Given the description of an element on the screen output the (x, y) to click on. 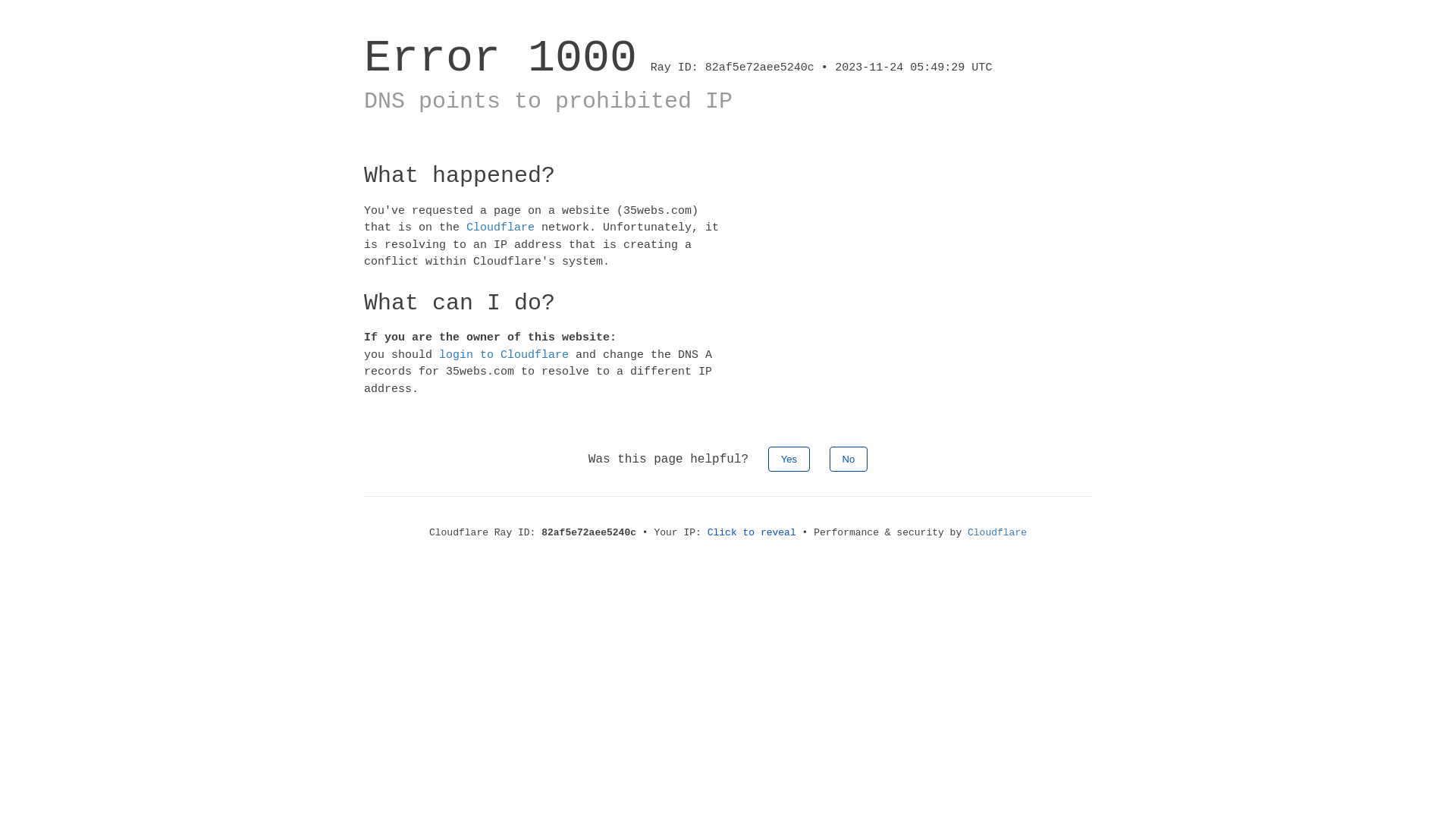
Cloudflare Element type: text (996, 532)
Cloudflare Element type: text (500, 227)
Yes Element type: text (788, 458)
Click to reveal Element type: text (751, 532)
login to Cloudflare Element type: text (503, 354)
No Element type: text (848, 458)
